Given the description of an element on the screen output the (x, y) to click on. 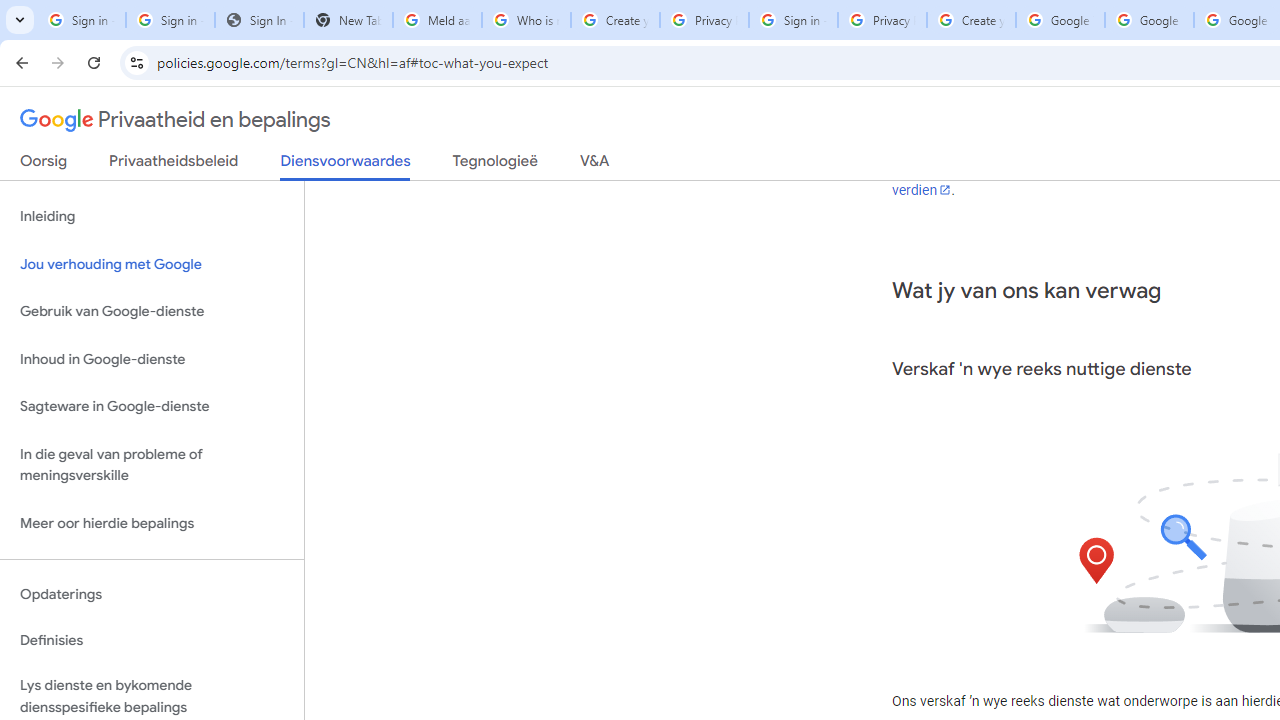
Gebruik van Google-dienste (152, 312)
Sign in - Google Accounts (793, 20)
Privaatheid en bepalings (175, 120)
Oorsig (43, 165)
Create your Google Account (971, 20)
Diensvoorwaardes (345, 166)
Inleiding (152, 216)
Definisies (152, 640)
